Given the description of an element on the screen output the (x, y) to click on. 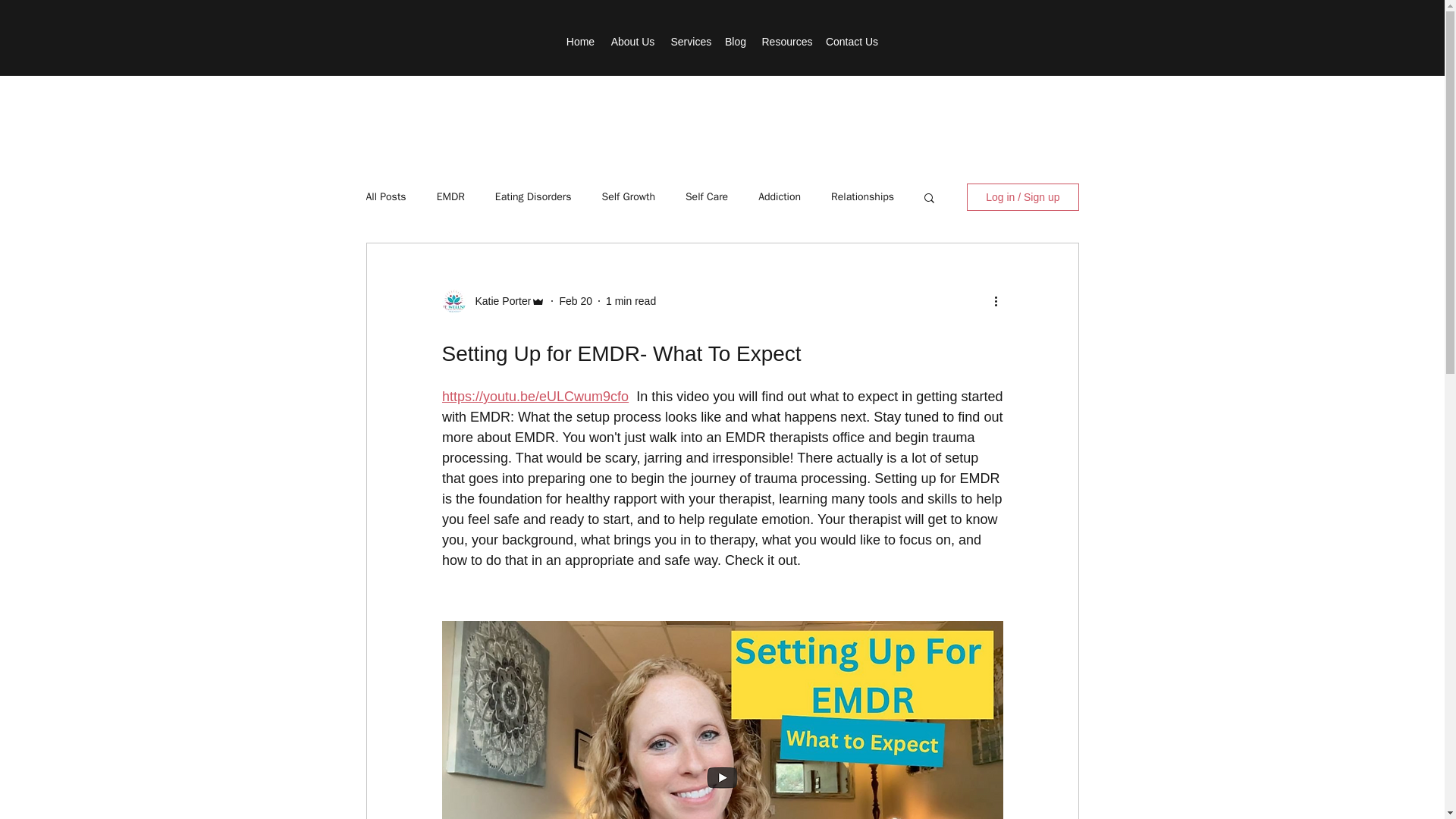
Eating Disorders (533, 196)
Contact Us (850, 41)
Services (689, 41)
About Us (632, 41)
Katie Porter (498, 300)
1 min read (630, 300)
Self Growth (628, 196)
Addiction (779, 196)
All Posts (385, 196)
Self Care (706, 196)
Blog (735, 41)
EMDR (450, 196)
Feb 20 (575, 300)
Resources (785, 41)
Home (579, 41)
